Given the description of an element on the screen output the (x, y) to click on. 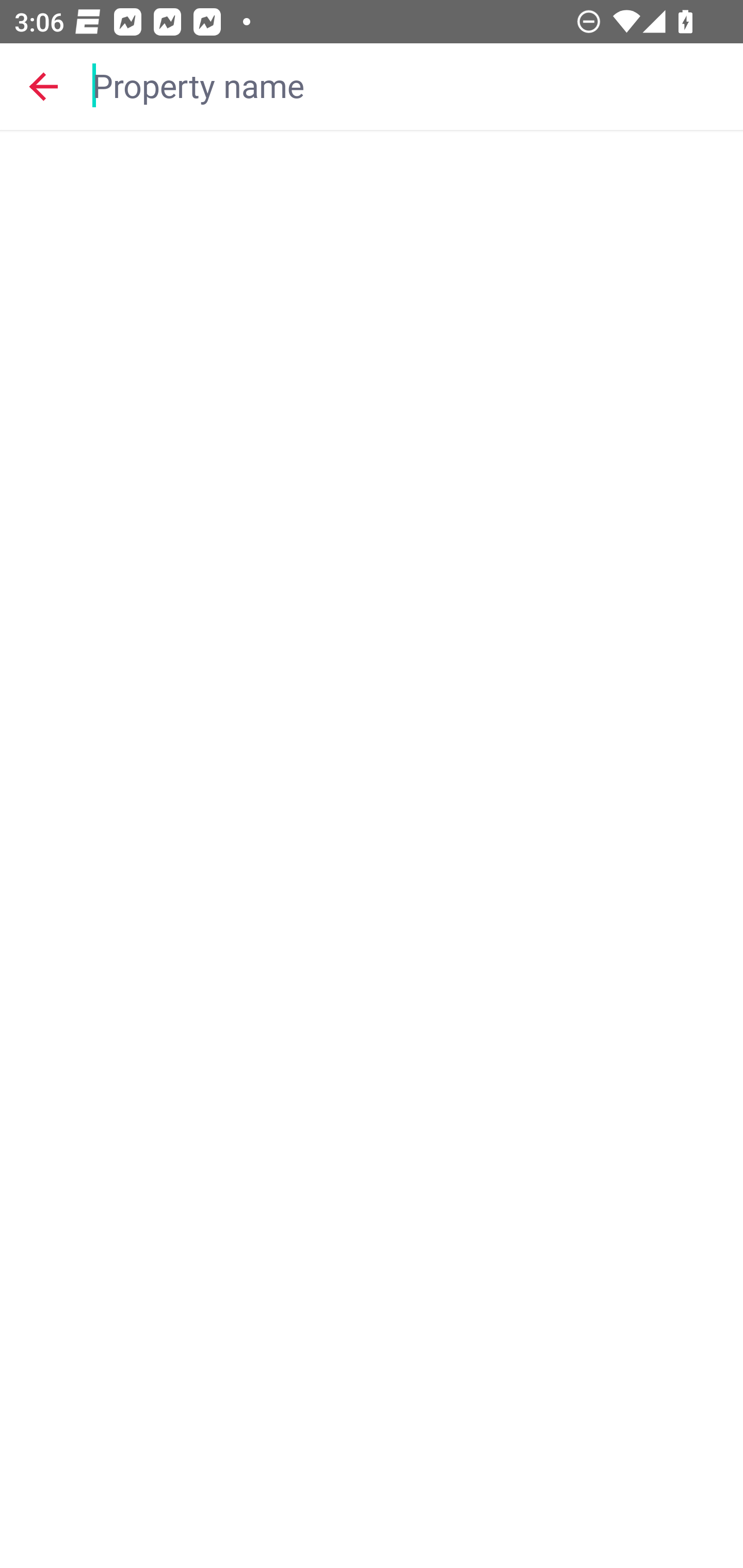
Property name,  (407, 85)
Back to search screen (43, 86)
